Given the description of an element on the screen output the (x, y) to click on. 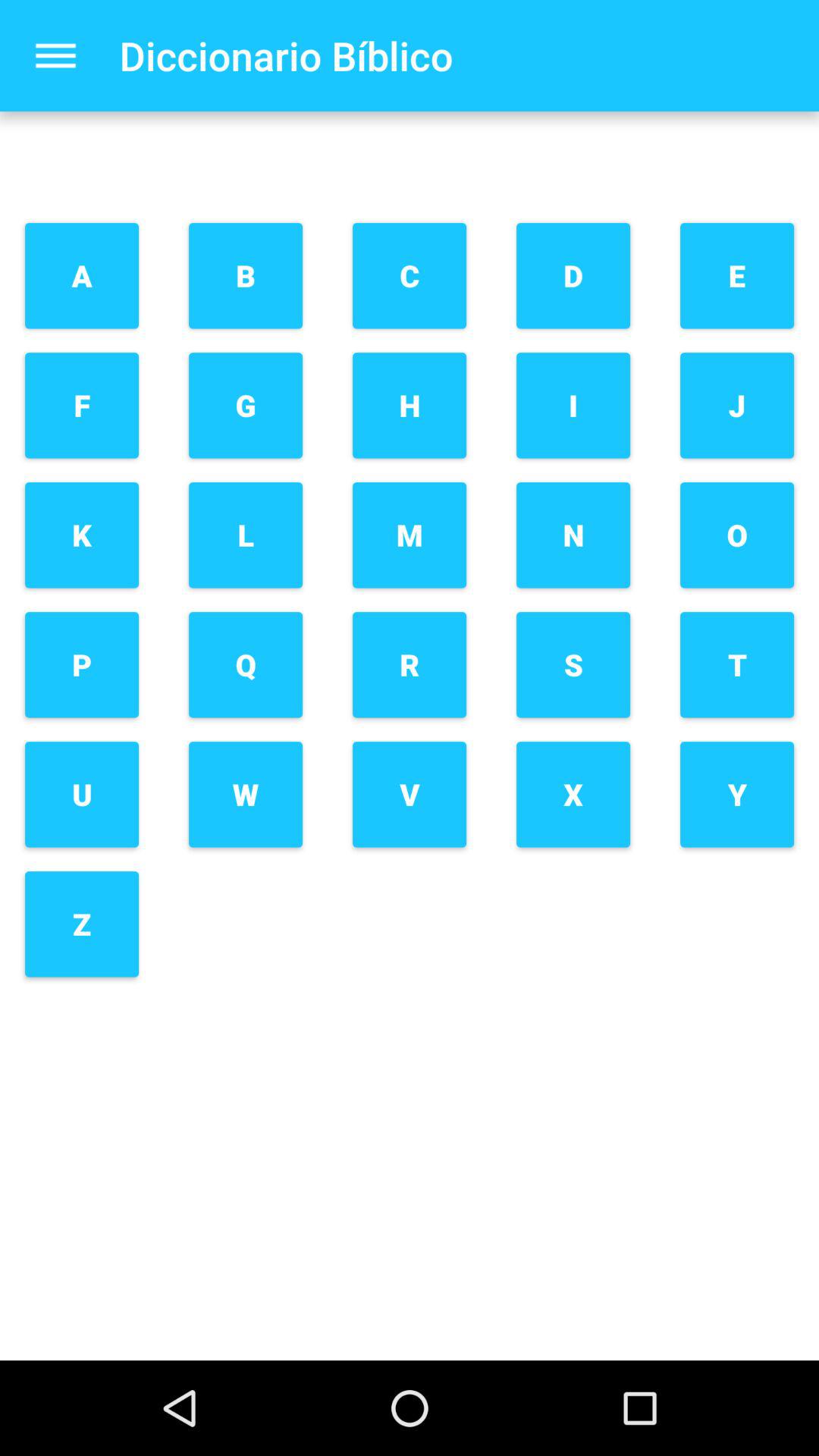
turn on the u icon (81, 794)
